Given the description of an element on the screen output the (x, y) to click on. 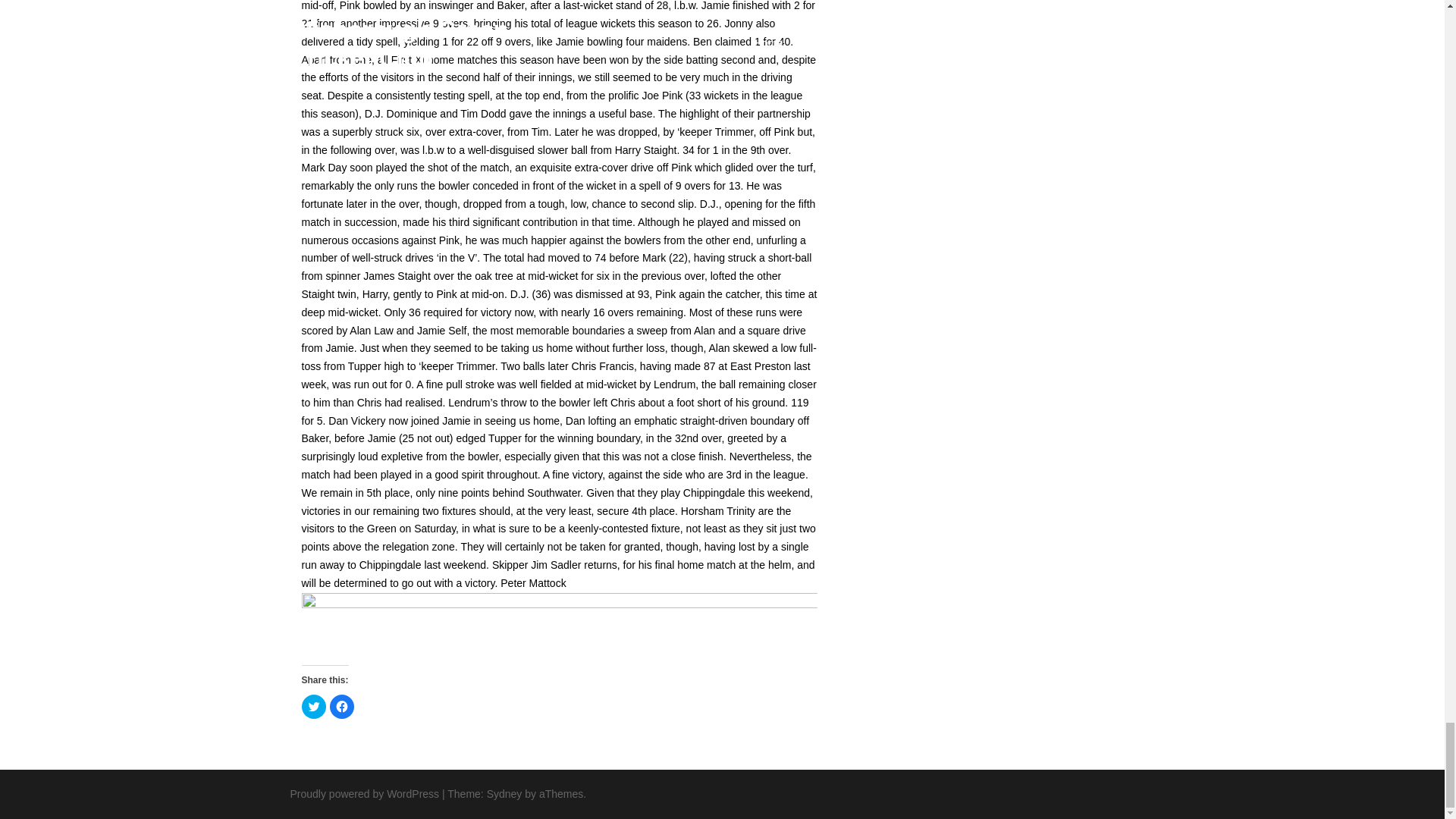
Click to share on Twitter (313, 706)
Click to share on Facebook (341, 706)
Sydney (504, 793)
Proudly powered by WordPress (364, 793)
